Given the description of an element on the screen output the (x, y) to click on. 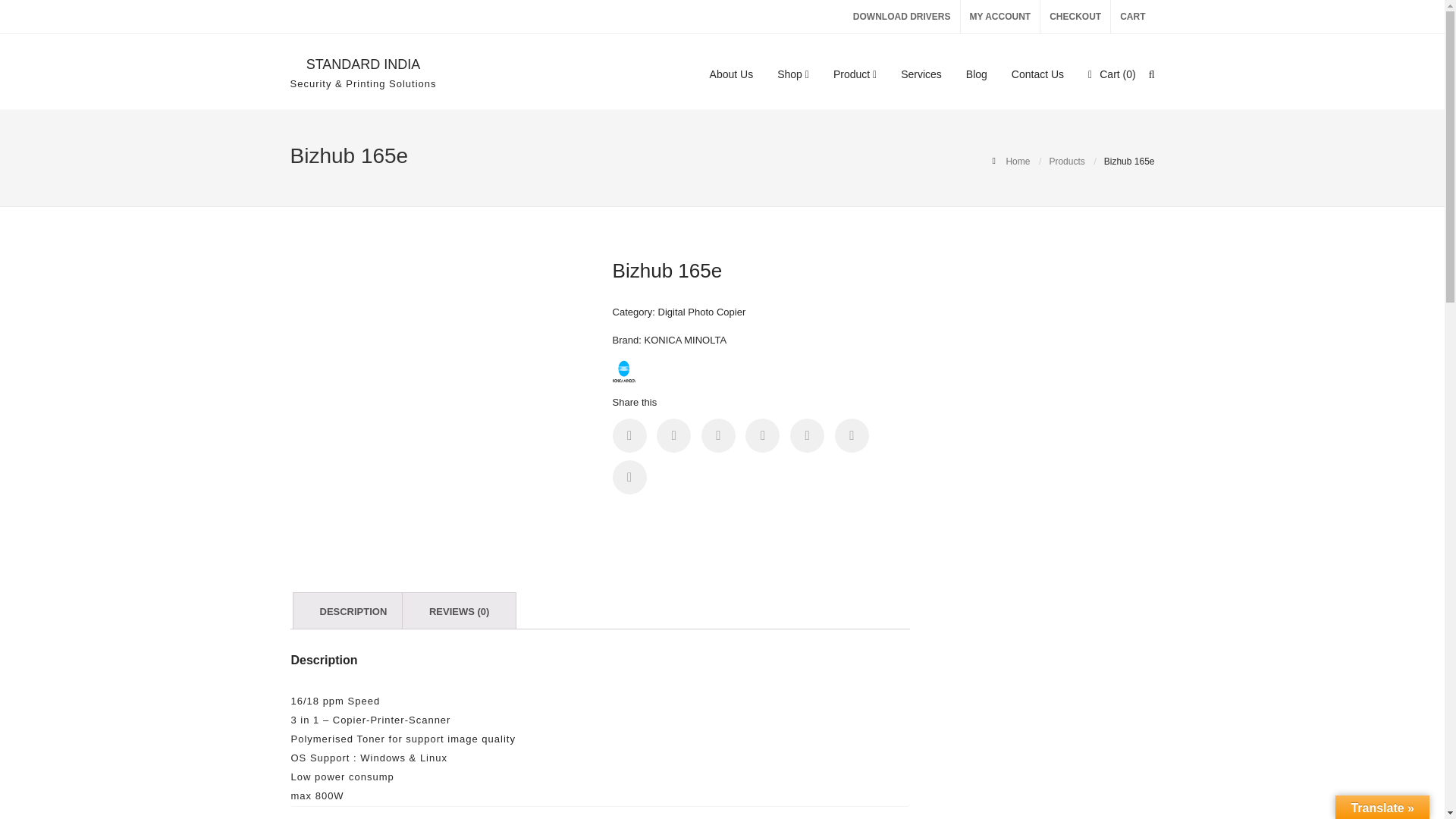
STANDARD INDIA (362, 63)
CHECKOUT (1075, 16)
About Us (731, 72)
MY ACCOUNT (999, 16)
DOWNLOAD DRIVERS (901, 16)
Contact Us (1037, 72)
About Us (731, 72)
CART (1132, 16)
